Given the description of an element on the screen output the (x, y) to click on. 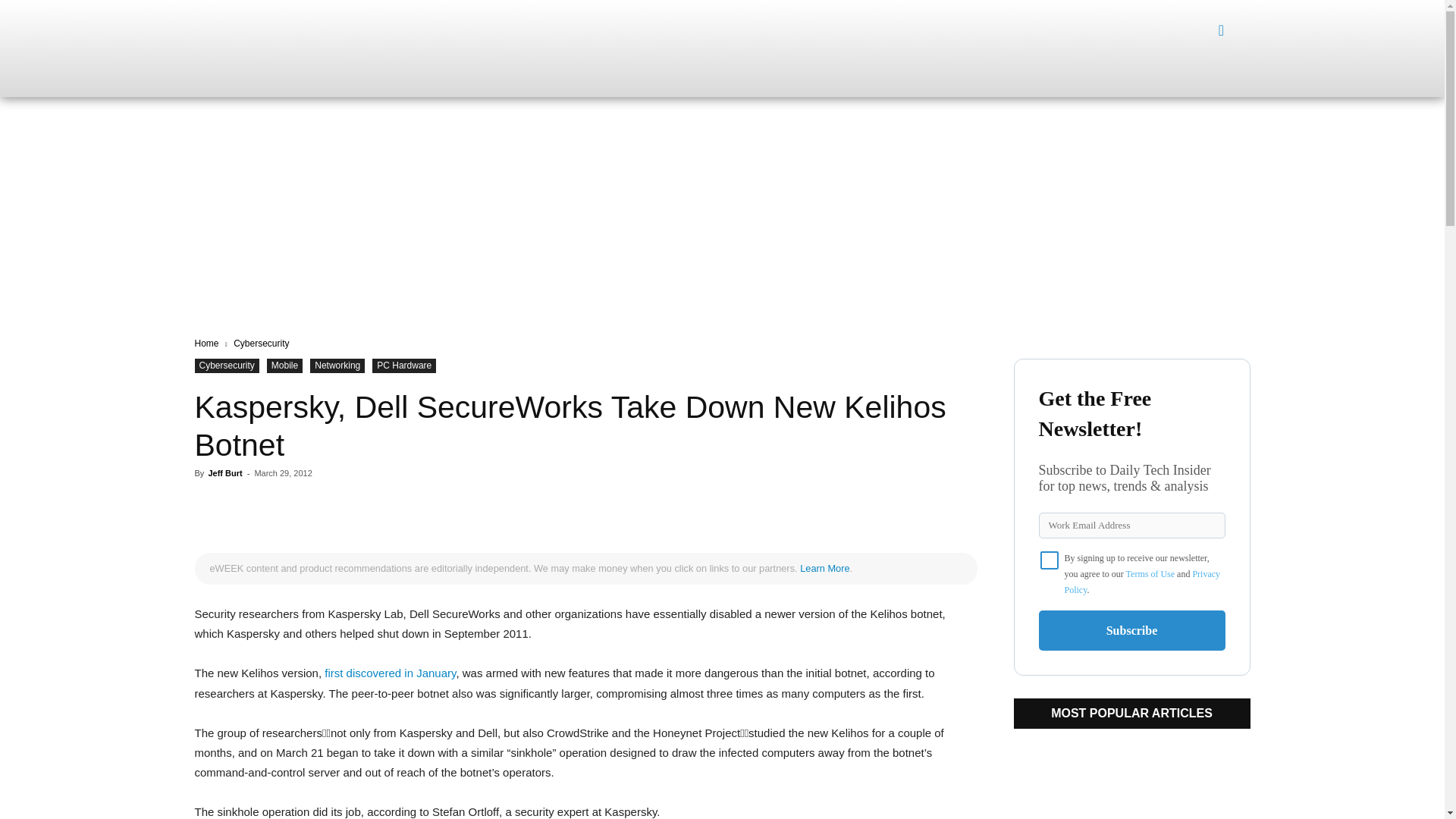
on (1049, 560)
